Given the description of an element on the screen output the (x, y) to click on. 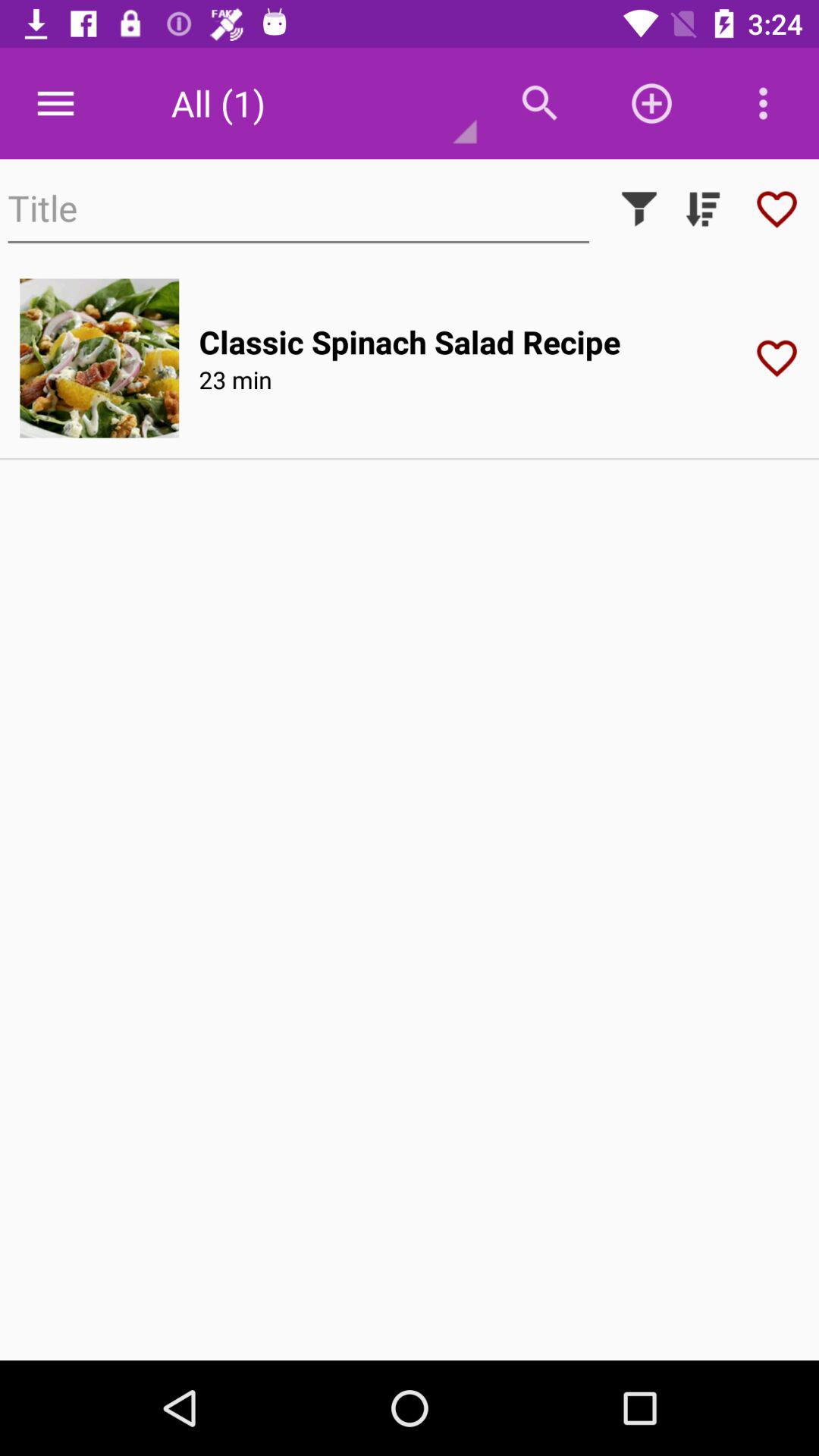
favorite the recipe (782, 357)
